Given the description of an element on the screen output the (x, y) to click on. 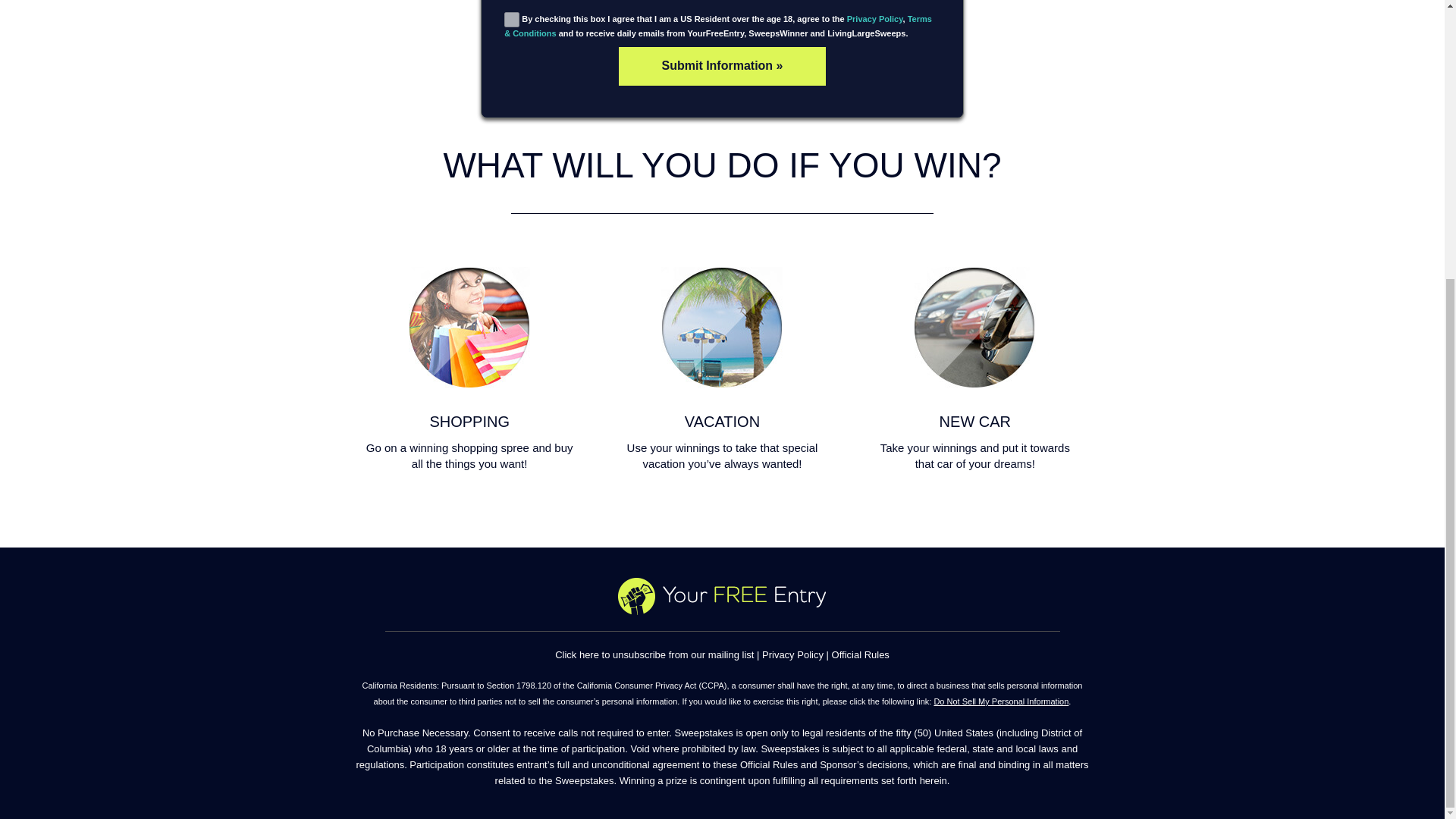
Click here (576, 654)
Do Not Sell My Personal Information (1000, 700)
Privacy Policy (874, 18)
on (511, 19)
Official Rules (860, 654)
Privacy Policy (792, 654)
